Given the description of an element on the screen output the (x, y) to click on. 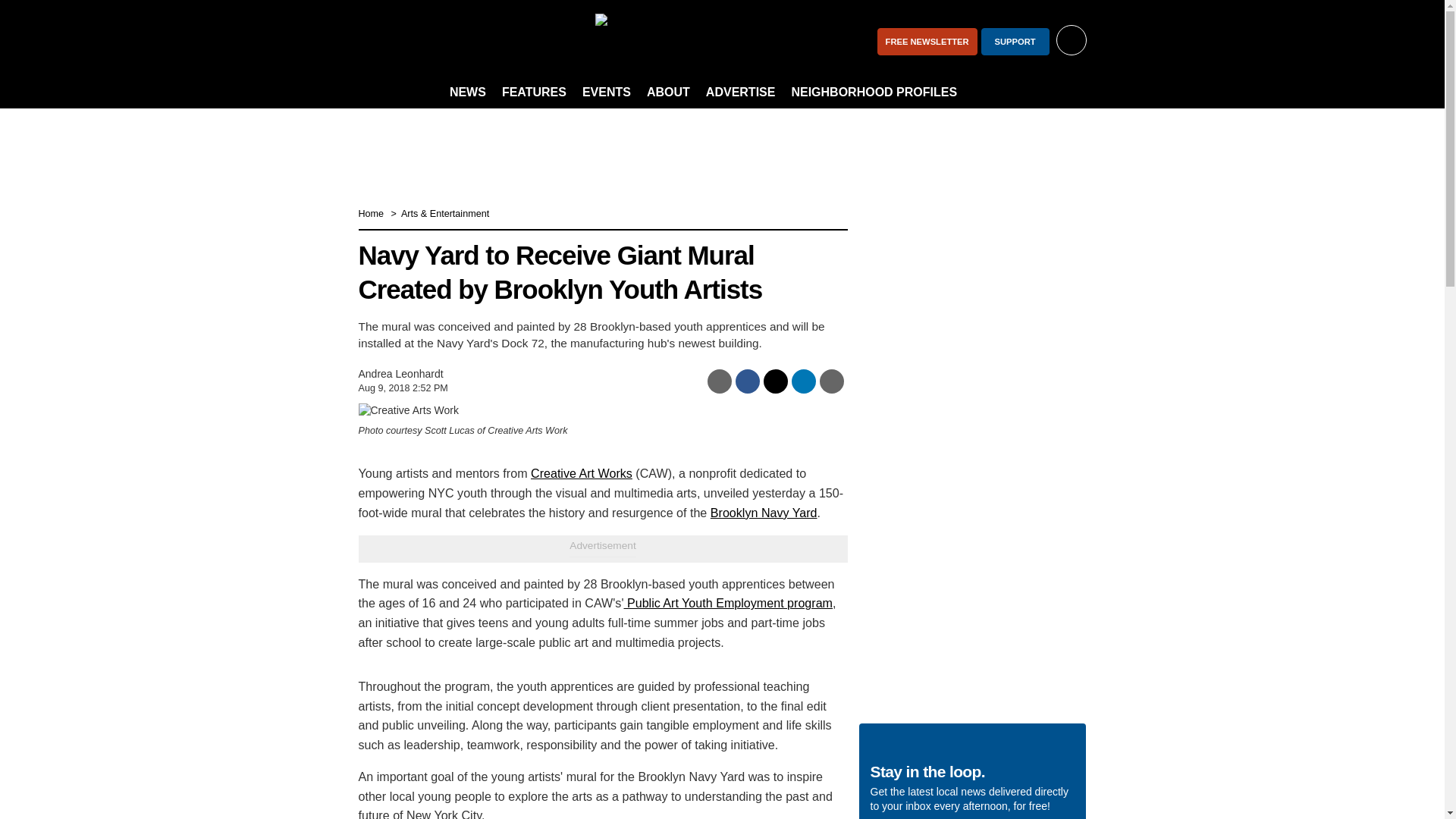
NEWS (468, 92)
Instagram (415, 41)
ABOUT (667, 92)
Page 1 (602, 793)
FREE NEWSLETTER (926, 41)
EVENTS (606, 92)
Facebook (376, 41)
SUPPORT (1015, 41)
